Given the description of an element on the screen output the (x, y) to click on. 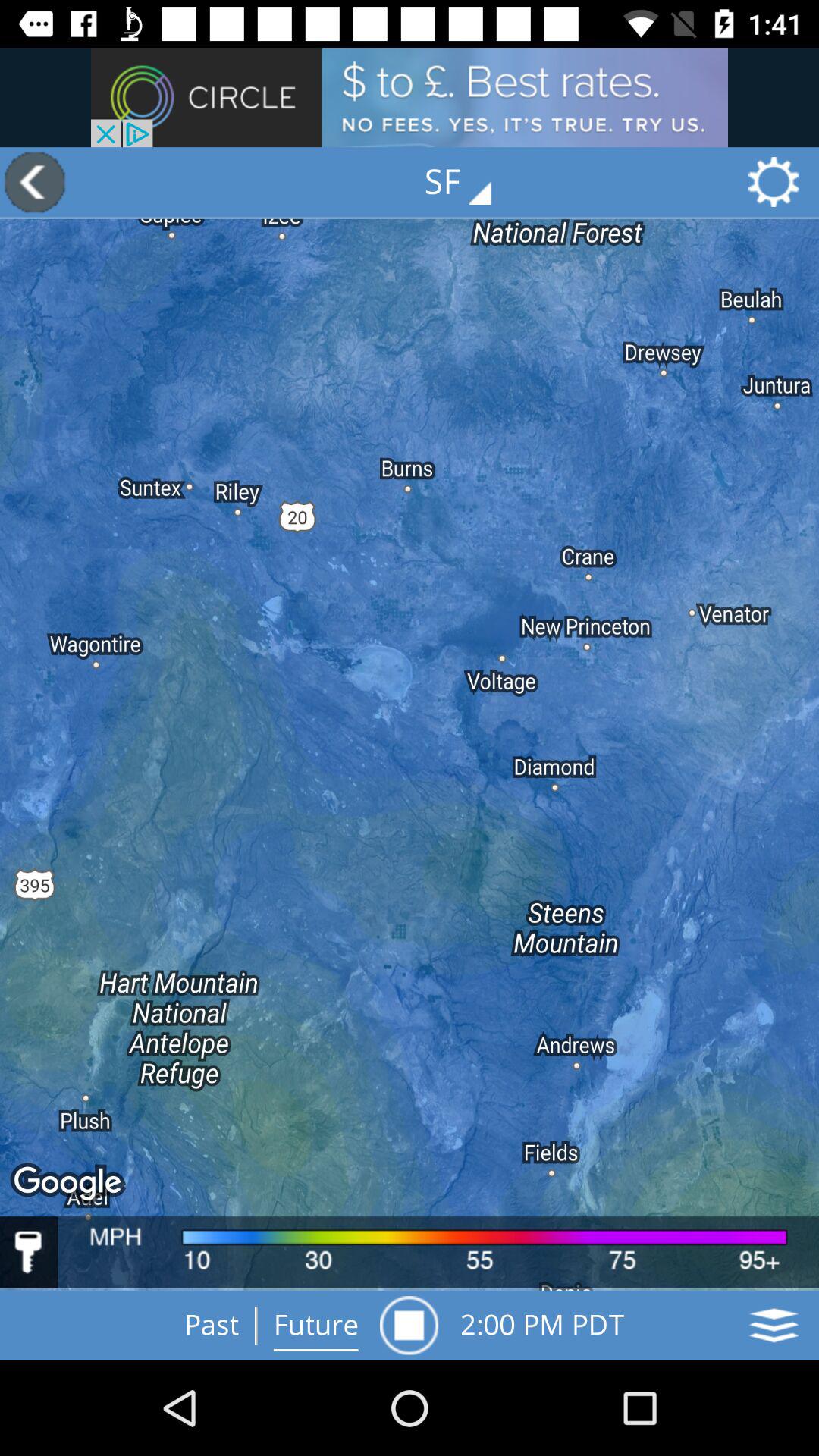
scale bar right to the key icon at the bottom (438, 1251)
click on the button which is left to the settings button (469, 181)
select the settings icon (778, 181)
select option past at bottom of page (211, 1325)
